Given the description of an element on the screen output the (x, y) to click on. 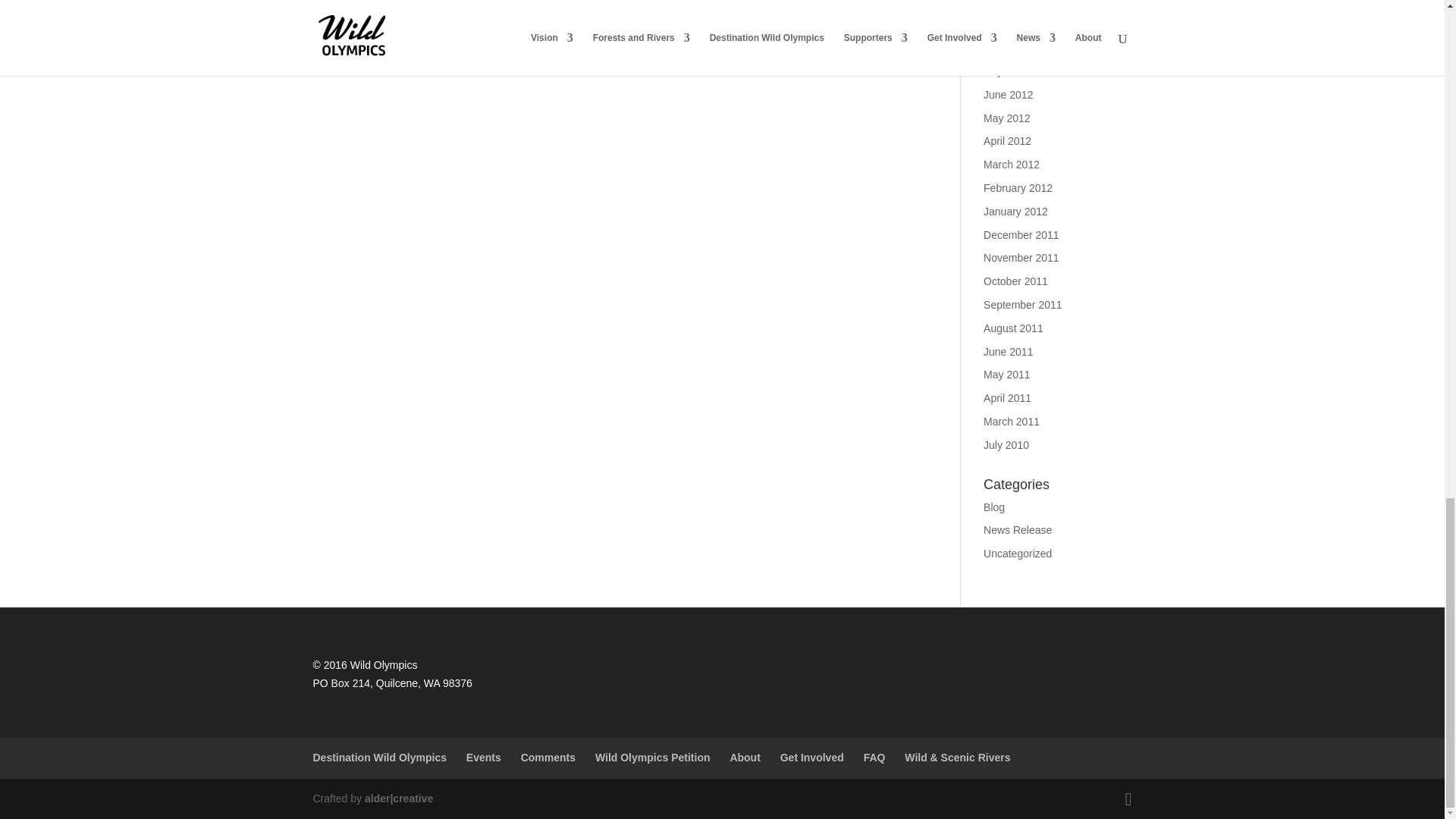
Modern Web Design and Content Creation in Aberdeen, WA (398, 798)
